Given the description of an element on the screen output the (x, y) to click on. 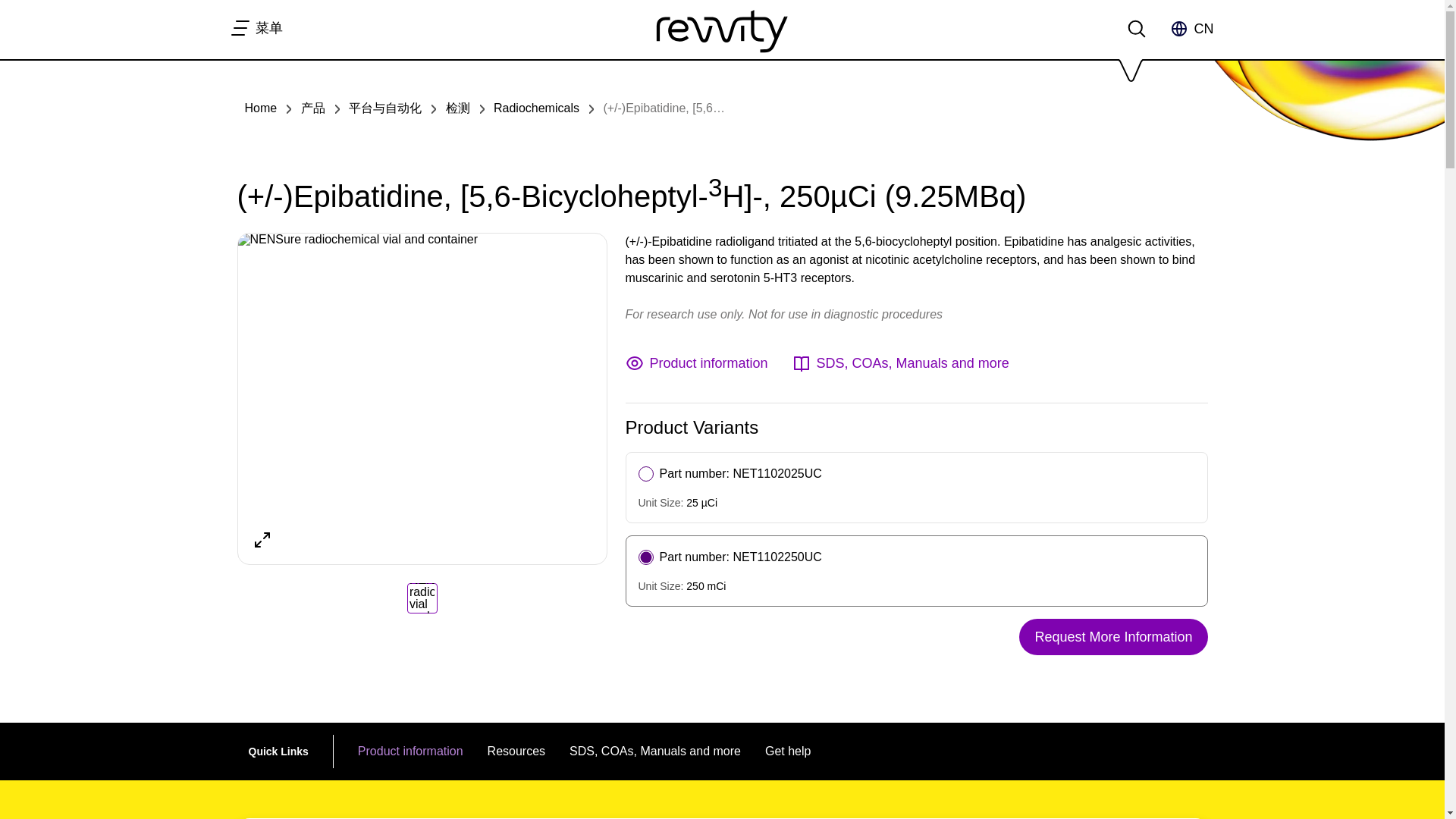
Radiochemicals (536, 107)
NENSure radiochemical vial and container (422, 239)
Home (260, 107)
Part number: NET1102250UC (730, 556)
Product information (695, 362)
Home (260, 107)
SDS, COAs, Manuals and more (900, 362)
Request More Information (1113, 637)
Part number: NET1102025UC (730, 474)
Radiochemicals (536, 107)
